Given the description of an element on the screen output the (x, y) to click on. 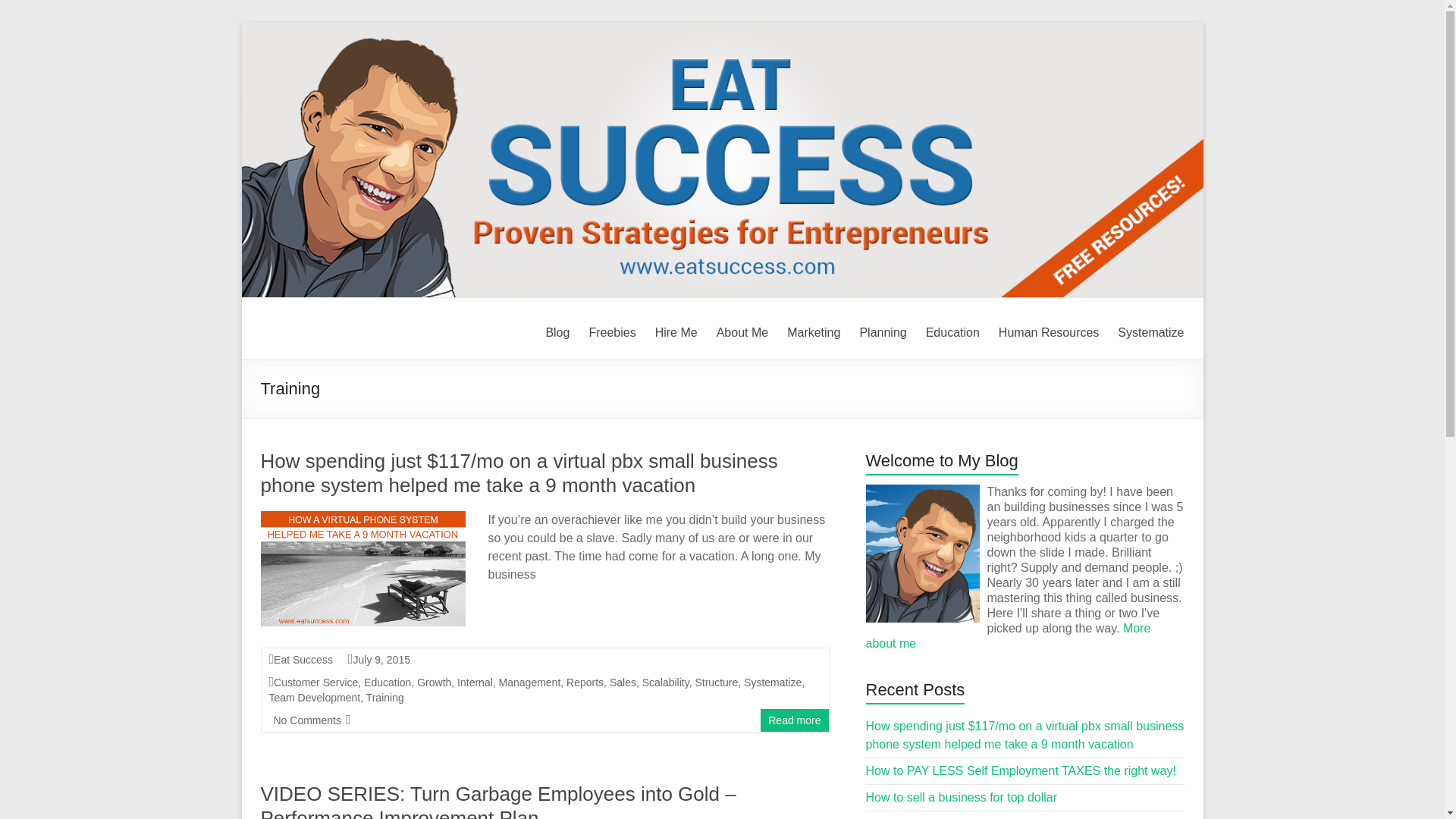
Scalability (665, 682)
Hire Me (676, 330)
Structure (716, 682)
Eat Success (303, 659)
Education (387, 682)
Team Development (313, 697)
Read more (794, 720)
Training (385, 697)
Marketing (813, 330)
Sales (623, 682)
Customer Service (315, 682)
10:04 pm (381, 659)
July 9, 2015 (381, 659)
Freebies (611, 330)
Reports (585, 682)
